Given the description of an element on the screen output the (x, y) to click on. 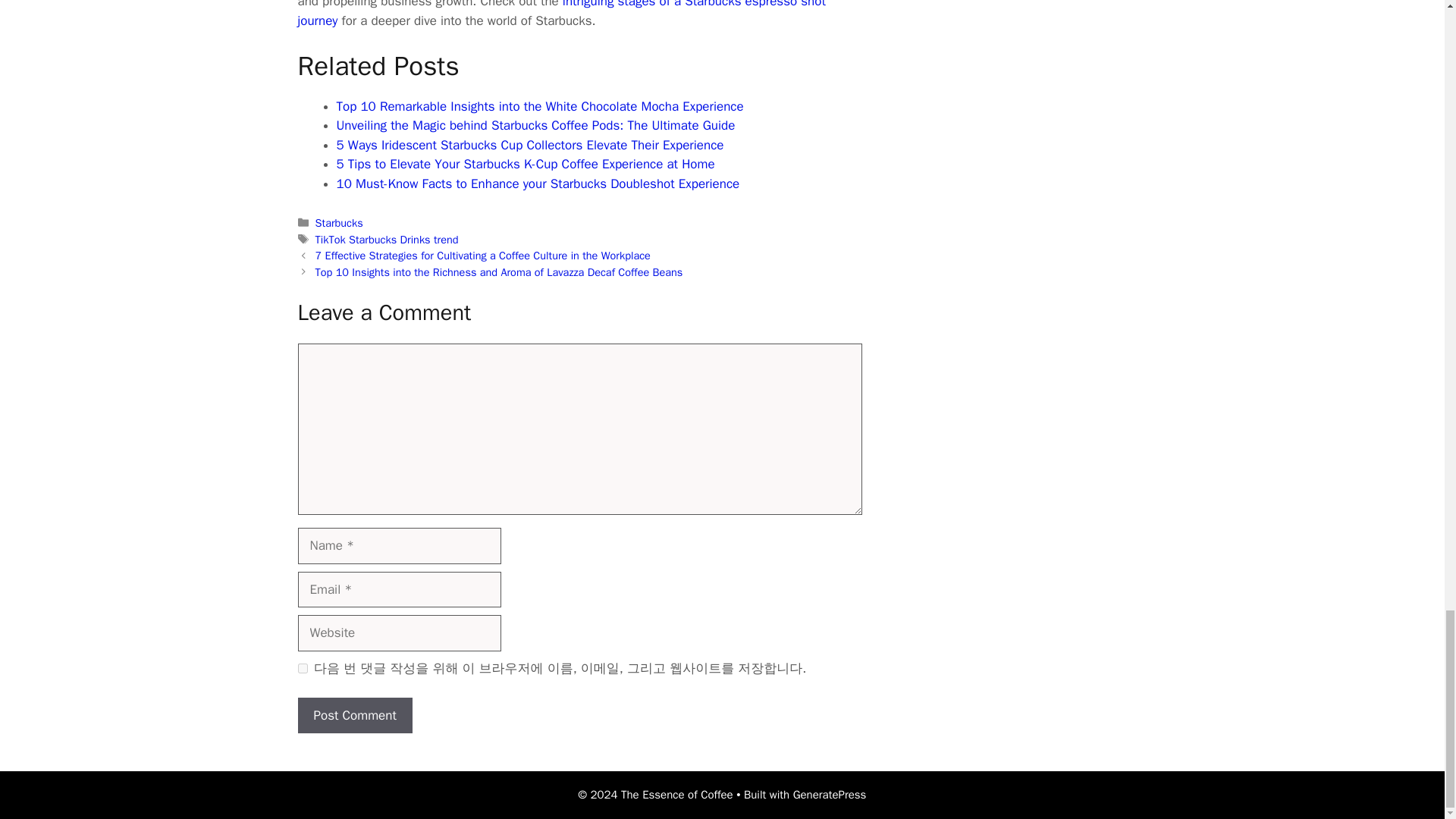
intriguing stages of a Starbucks espresso shot journey (561, 14)
Post Comment (354, 715)
yes (302, 668)
Post Comment (354, 715)
Starbucks (338, 223)
TikTok Starbucks Drinks trend (386, 239)
